Given the description of an element on the screen output the (x, y) to click on. 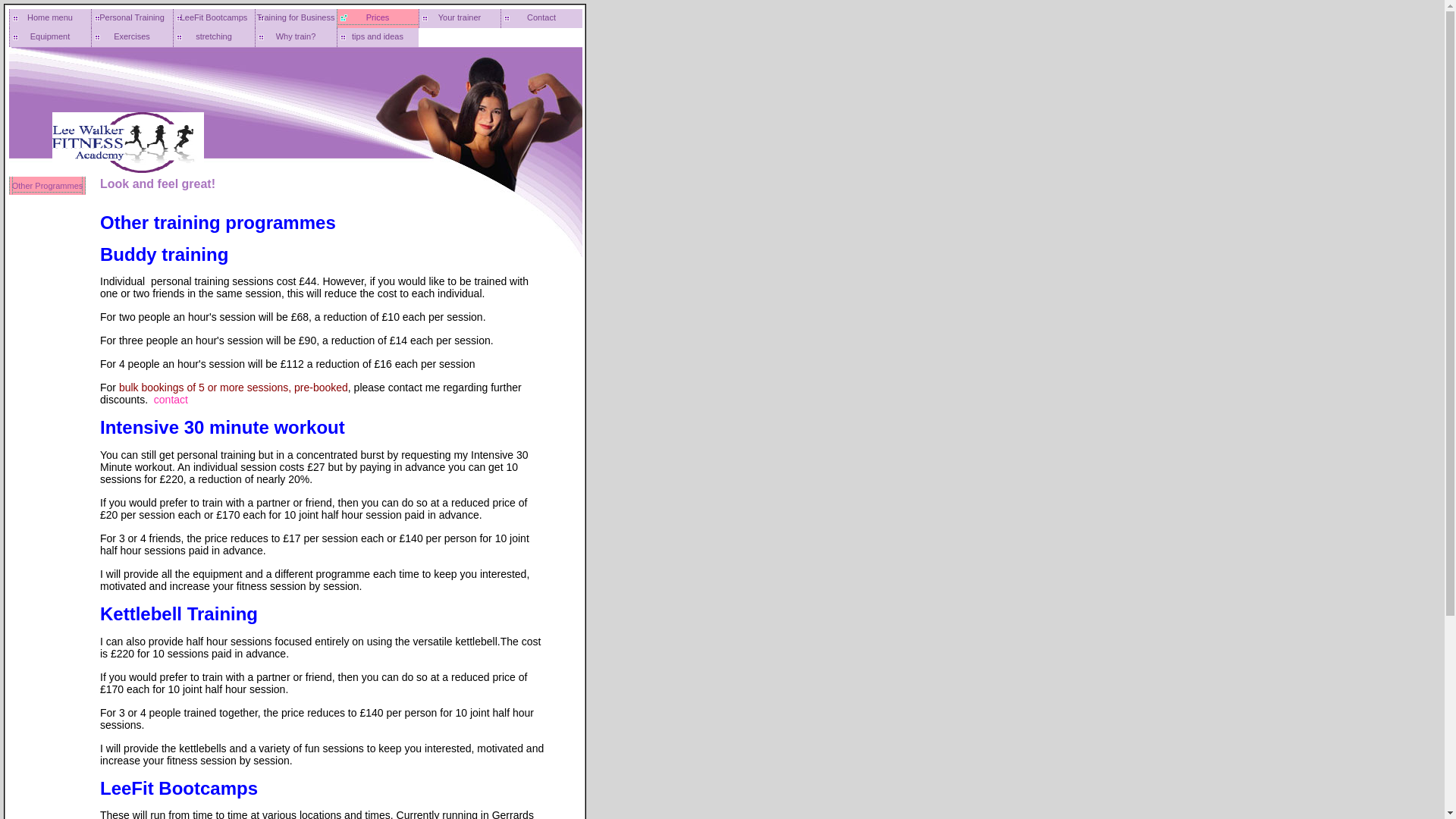
Equipment (49, 36)
Why train? (295, 36)
contact (170, 399)
stretching (213, 36)
Training for Business (295, 18)
Your trainer (459, 18)
Exercises (131, 36)
Contact (541, 18)
Personal Training (131, 18)
Home menu (49, 18)
